Given the description of an element on the screen output the (x, y) to click on. 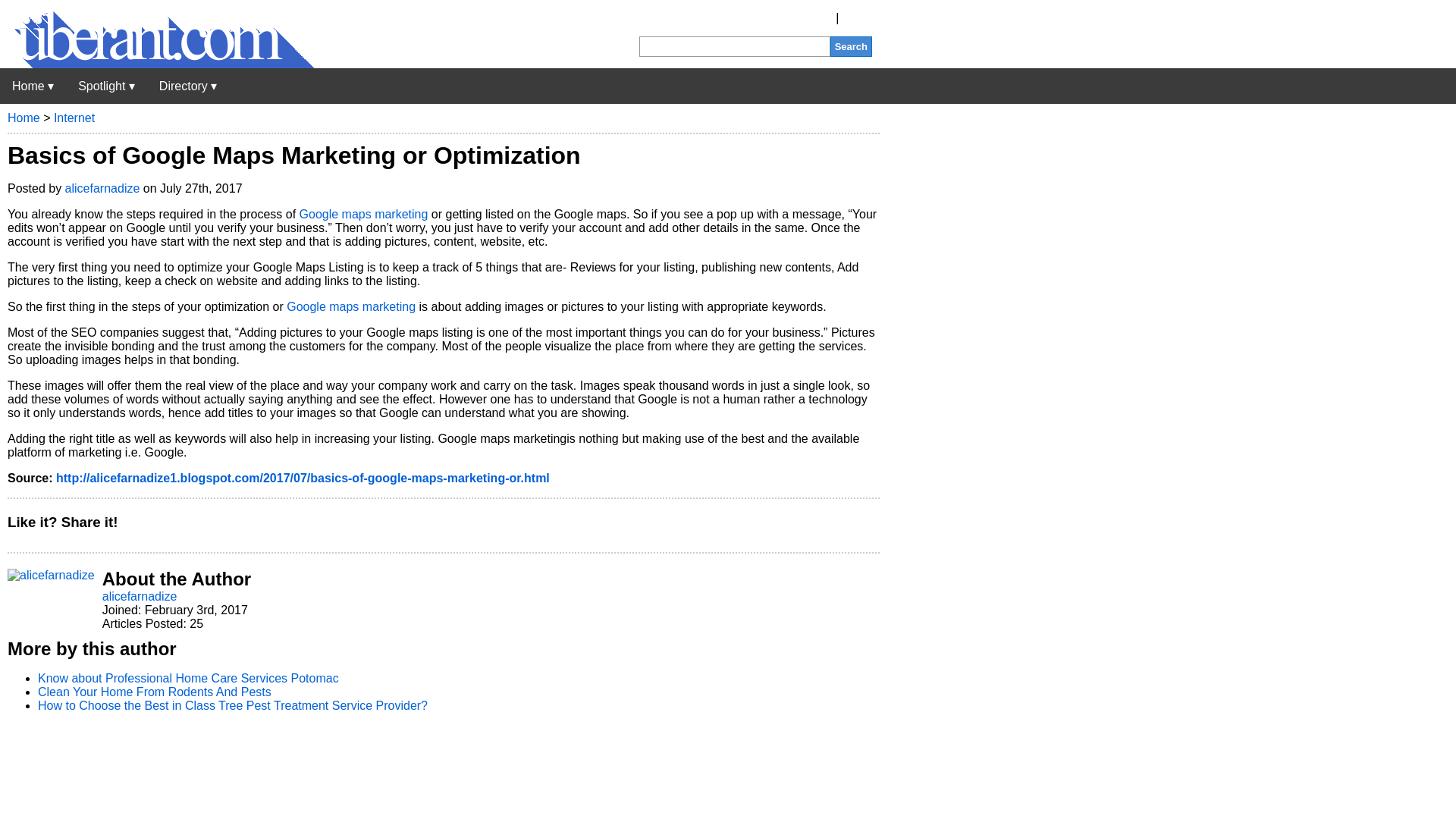
Login (857, 17)
Register (809, 17)
Uberant (157, 63)
Uberant (32, 85)
Search (850, 46)
Search (850, 46)
